Given the description of an element on the screen output the (x, y) to click on. 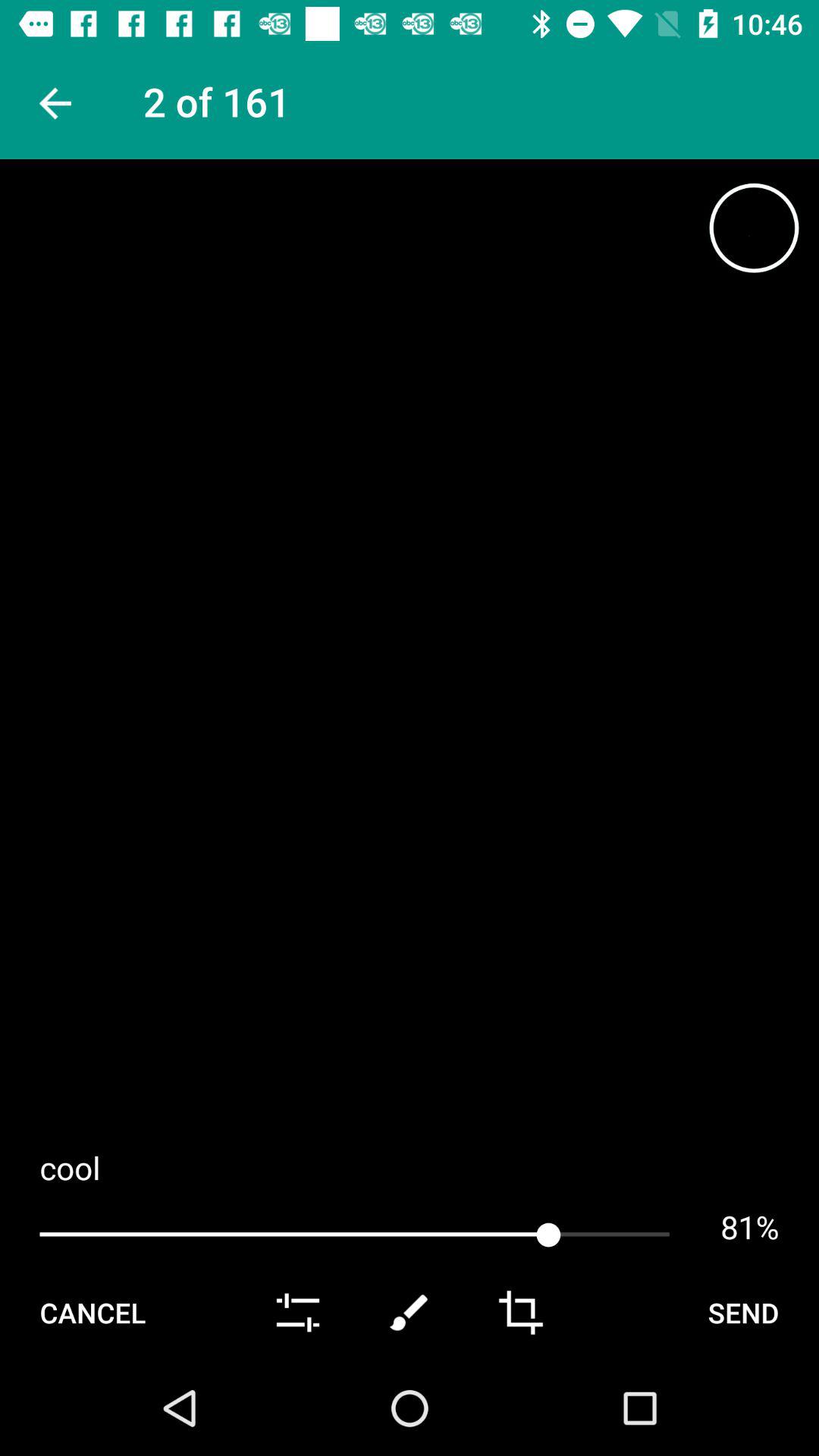
flip to the cool item (409, 1167)
